Given the description of an element on the screen output the (x, y) to click on. 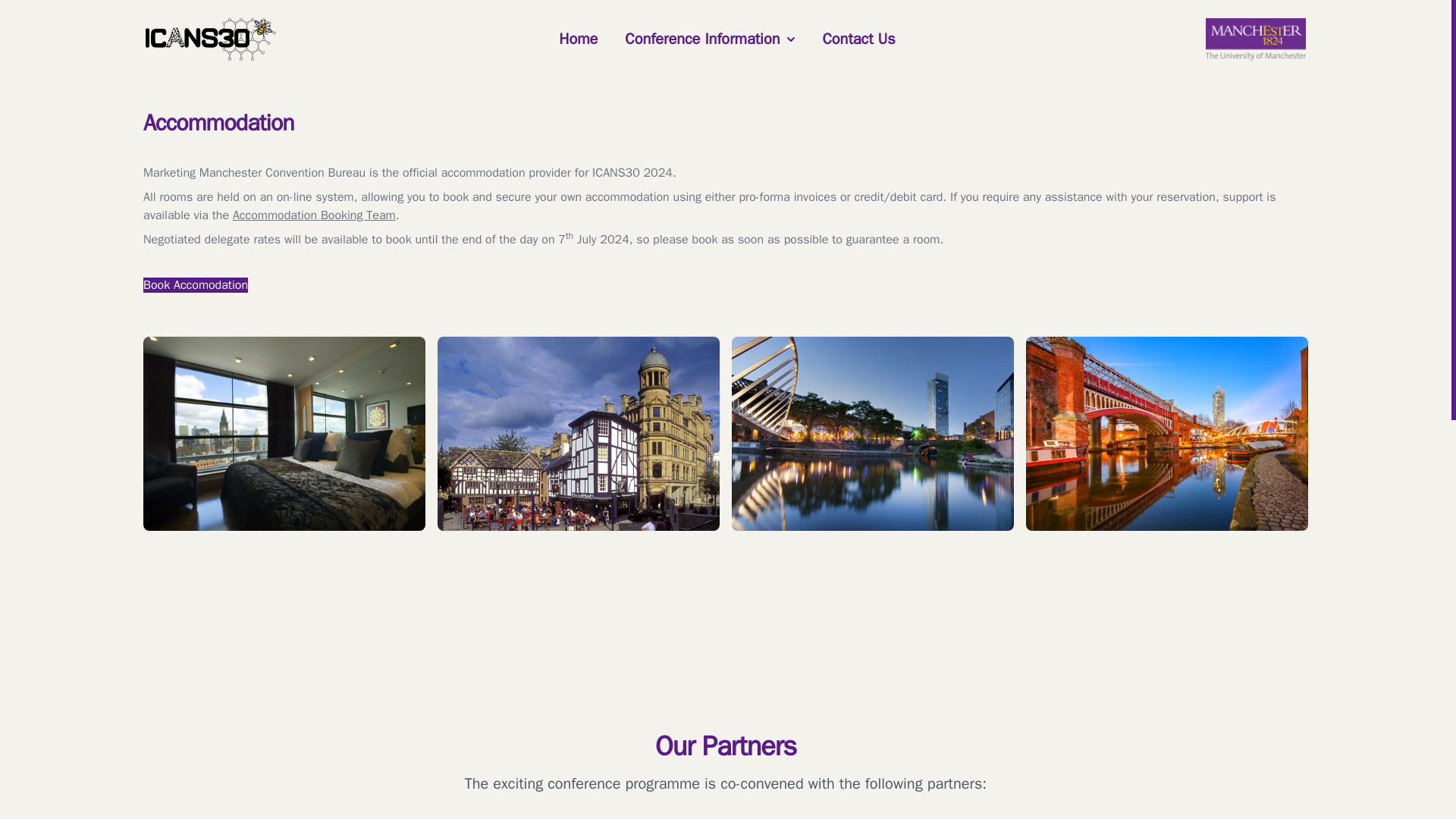
Accommodation Booking Team (314, 215)
Conference Information (709, 38)
Book Accomodation (194, 284)
Home (577, 38)
Contact Us (858, 38)
